Given the description of an element on the screen output the (x, y) to click on. 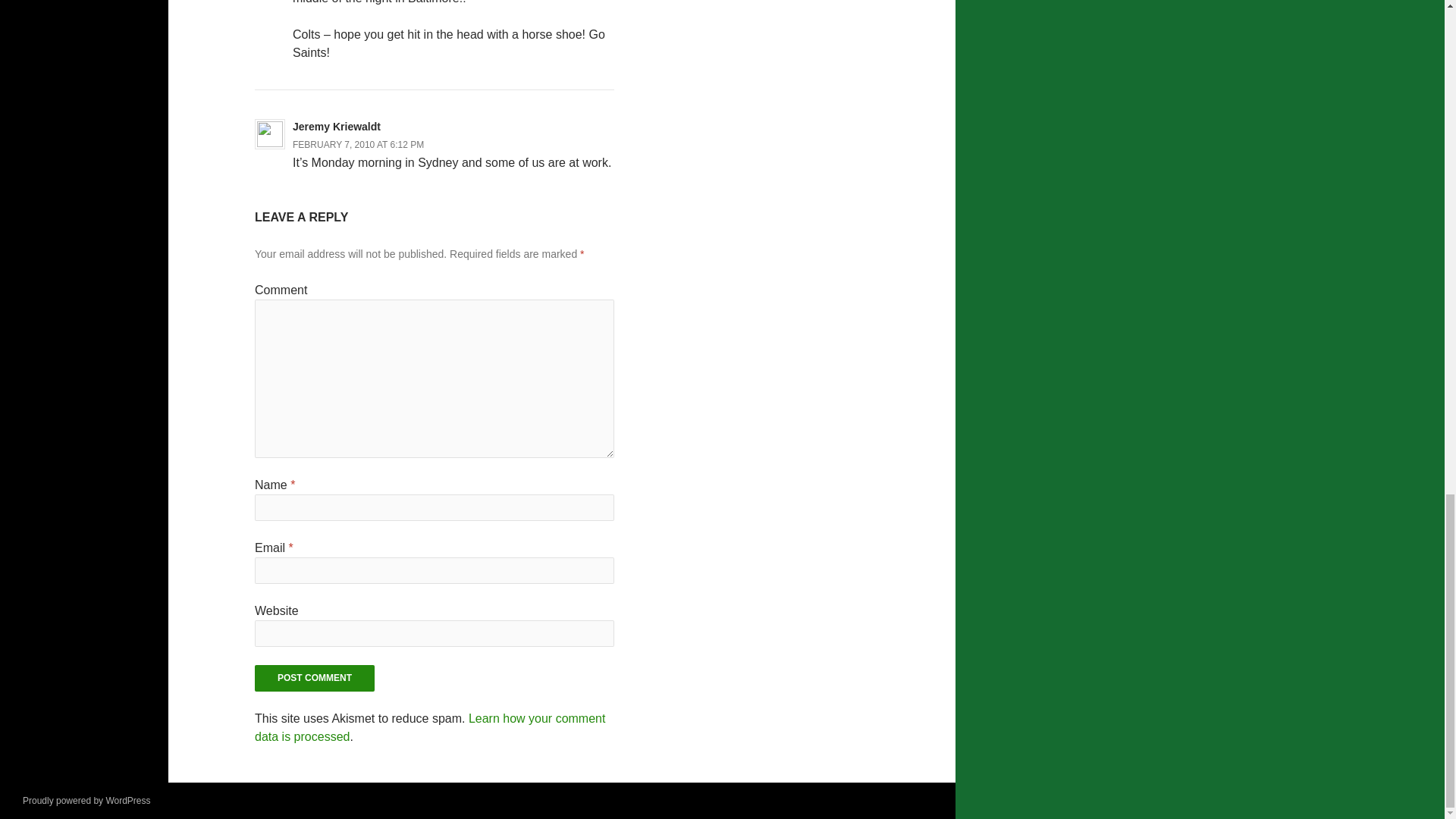
FEBRUARY 7, 2010 AT 6:12 PM (357, 144)
Post Comment (314, 678)
Proudly powered by WordPress (87, 800)
Post Comment (314, 678)
Learn how your comment data is processed (429, 726)
